Given the description of an element on the screen output the (x, y) to click on. 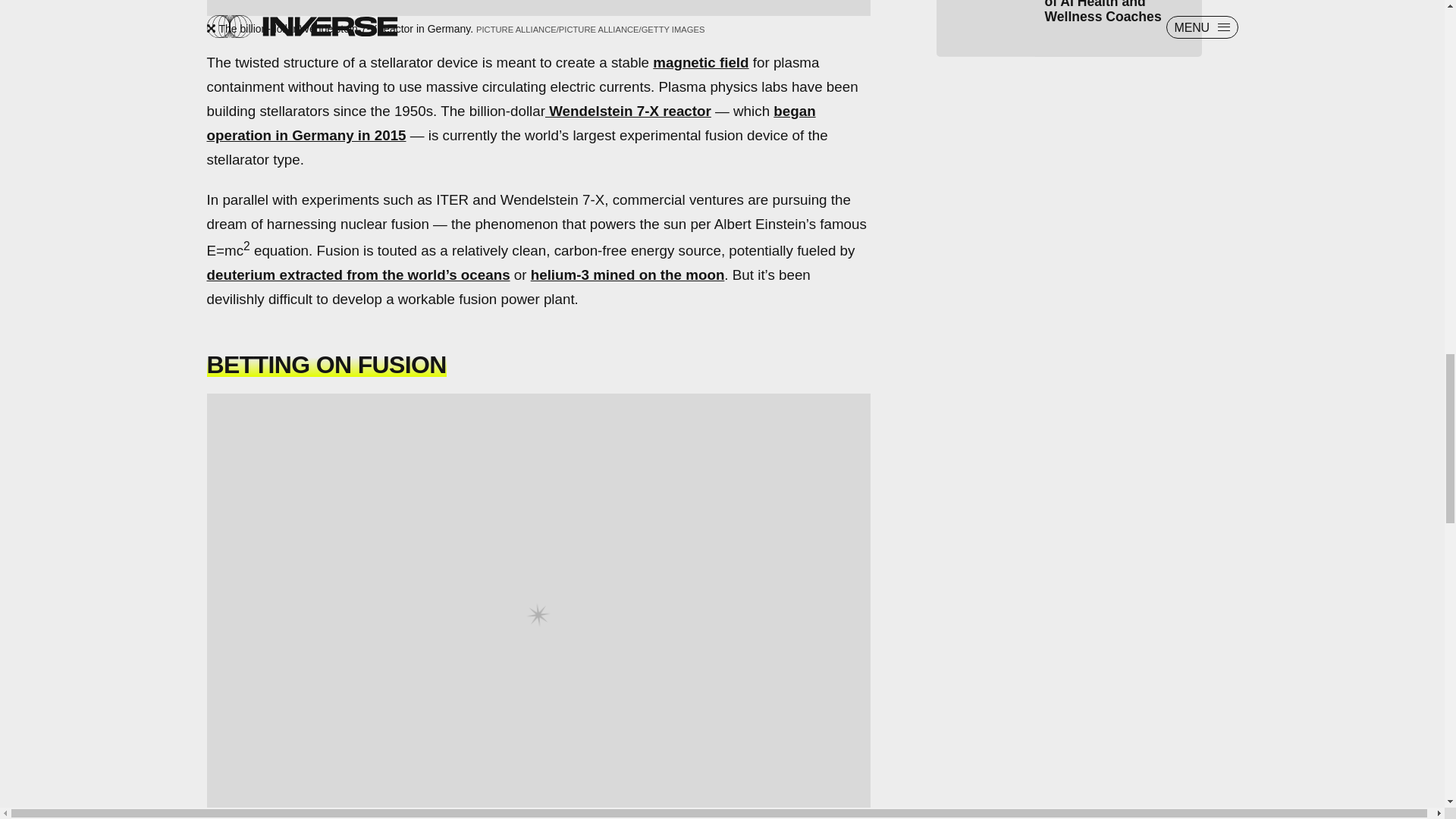
helium-3 mined on the moon (628, 274)
Wendelstein 7-X reactor (627, 110)
began operation in Germany in 2015 (510, 123)
magnetic field (700, 62)
